Given the description of an element on the screen output the (x, y) to click on. 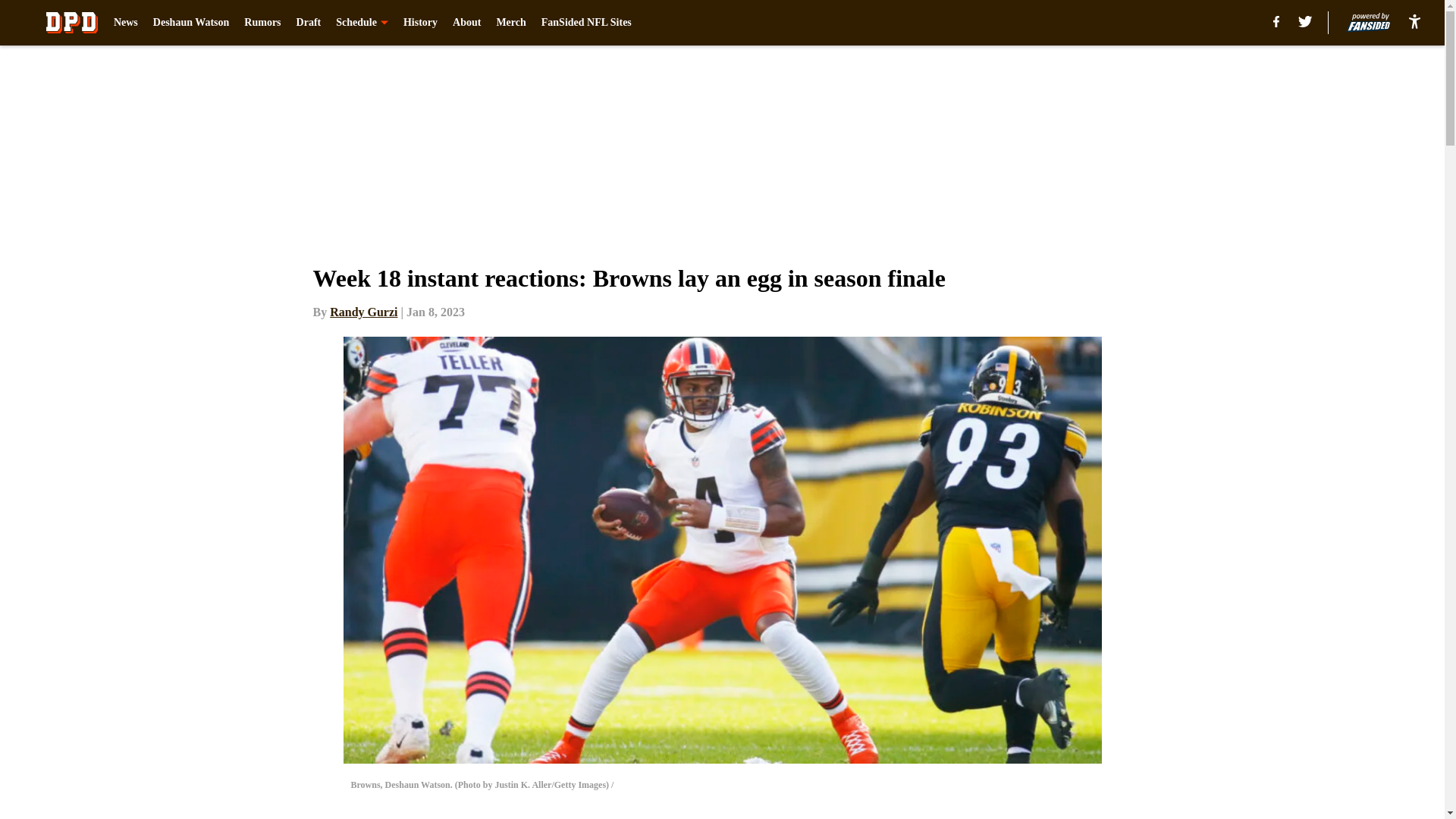
News (125, 22)
About (466, 22)
Randy Gurzi (363, 311)
Draft (309, 22)
History (420, 22)
Merch (510, 22)
FanSided NFL Sites (586, 22)
Deshaun Watson (191, 22)
Rumors (262, 22)
